Given the description of an element on the screen output the (x, y) to click on. 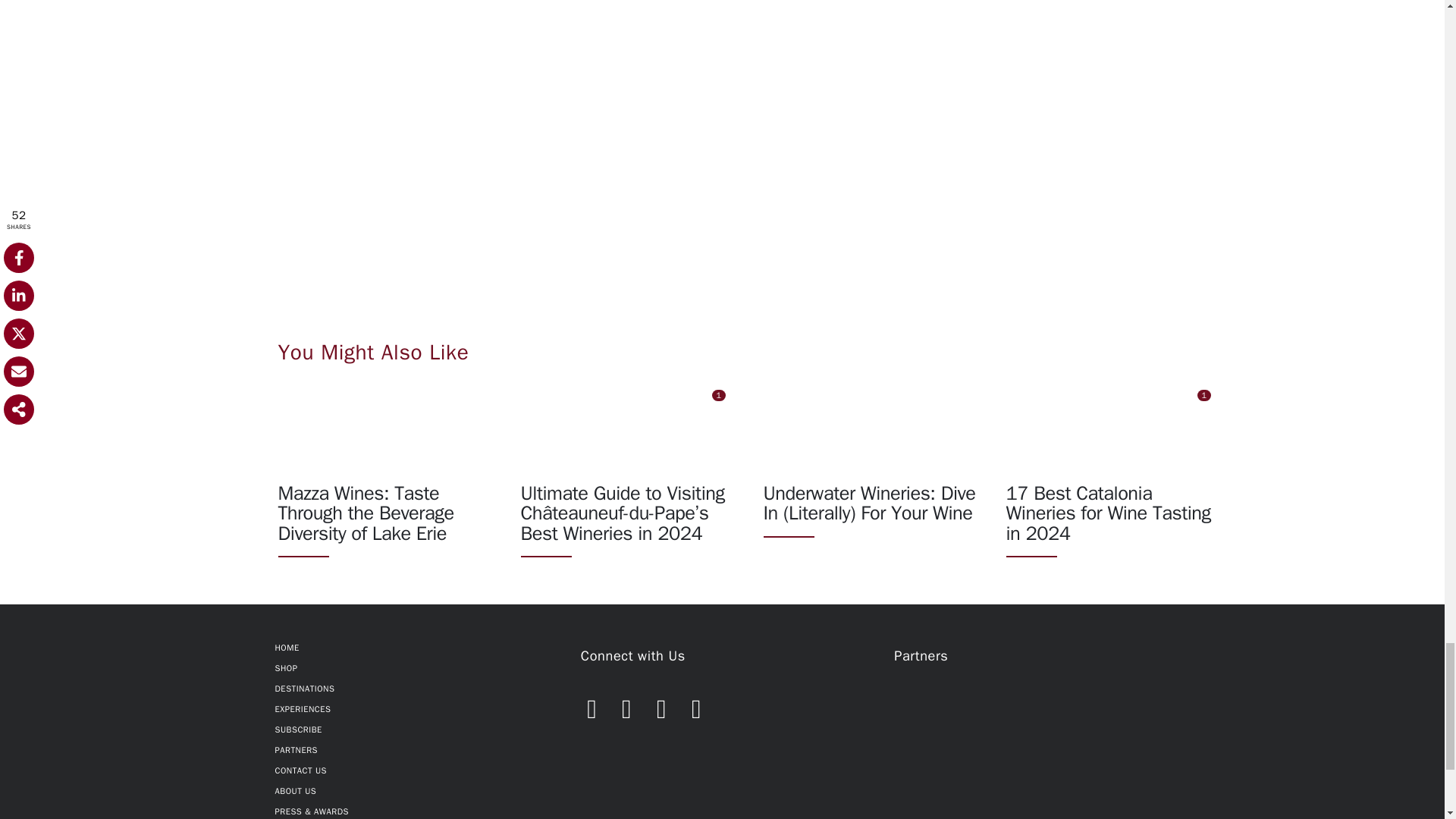
facebook (592, 703)
instagram (661, 703)
twitter (627, 703)
Pinterest (696, 703)
